Given the description of an element on the screen output the (x, y) to click on. 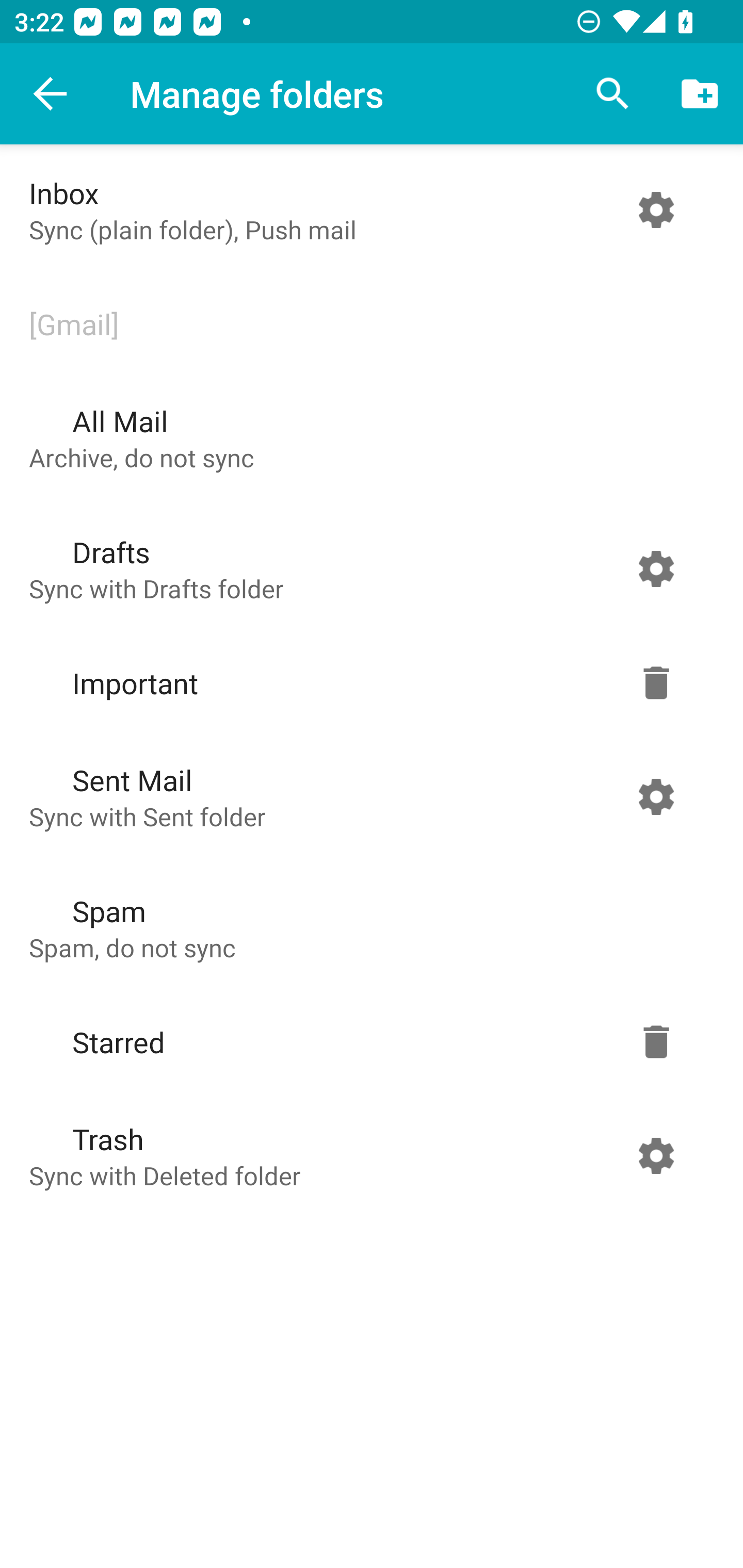
Navigate up (50, 93)
Search folders (612, 93)
Create folder (699, 93)
Folder settings (655, 209)
All Mail Archive, do not sync (367, 438)
Drafts Sync with Drafts folder Folder settings (367, 569)
Folder settings (655, 569)
Important Folder settings (367, 682)
Folder settings (655, 682)
Sent Mail Sync with Sent folder Folder settings (367, 796)
Folder settings (655, 796)
Spam Spam, do not sync (367, 928)
Starred Folder settings (367, 1041)
Folder settings (655, 1041)
Trash Sync with Deleted folder Folder settings (367, 1155)
Folder settings (655, 1155)
